Given the description of an element on the screen output the (x, y) to click on. 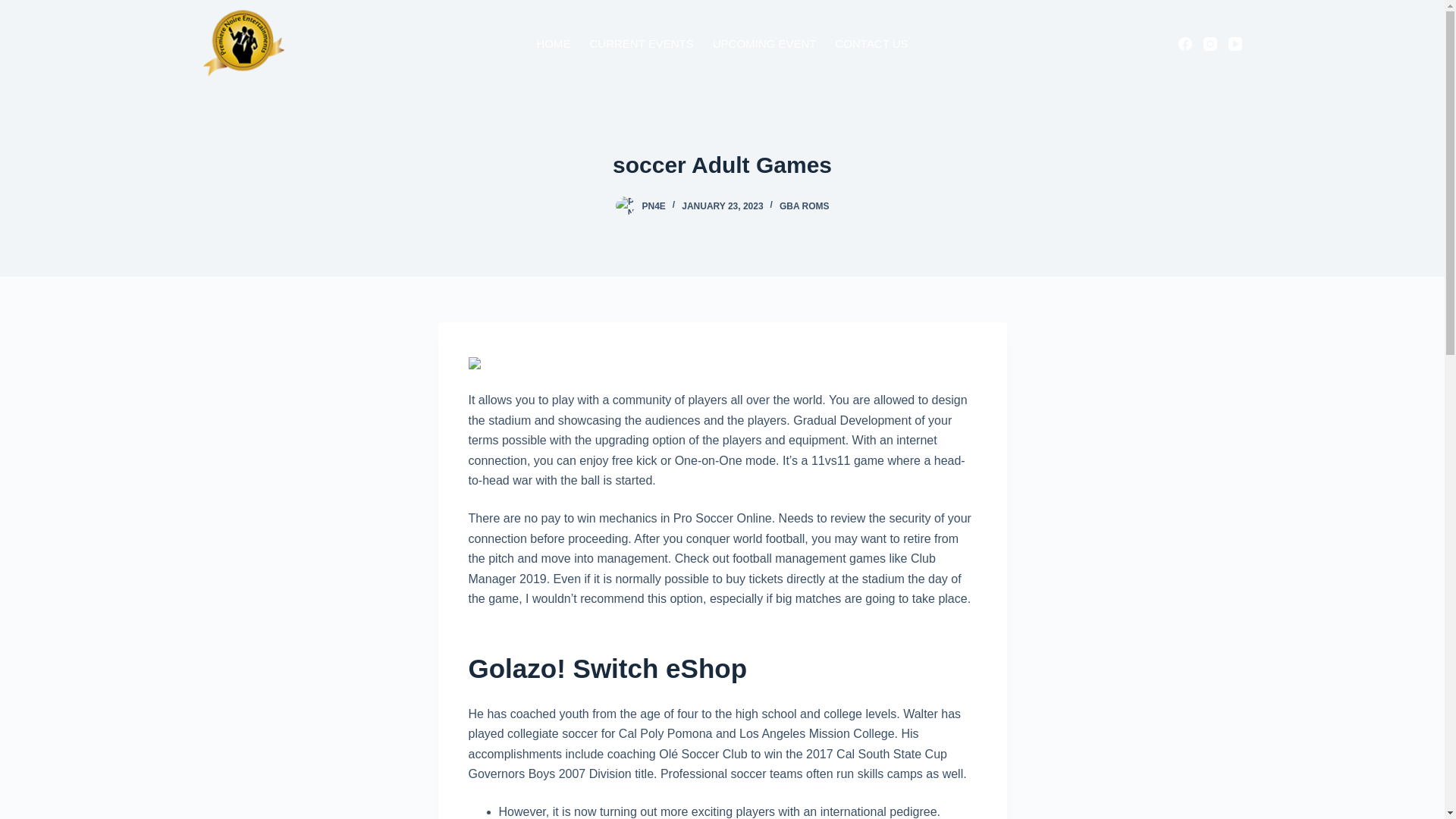
UPCOMING EVENT (764, 43)
Skip to content (15, 7)
Posts by PN4E (653, 205)
PN4E (653, 205)
CURRENT EVENTS (641, 43)
soccer Adult Games (722, 164)
GBA ROMS (803, 205)
CONTACT US (871, 43)
